Given the description of an element on the screen output the (x, y) to click on. 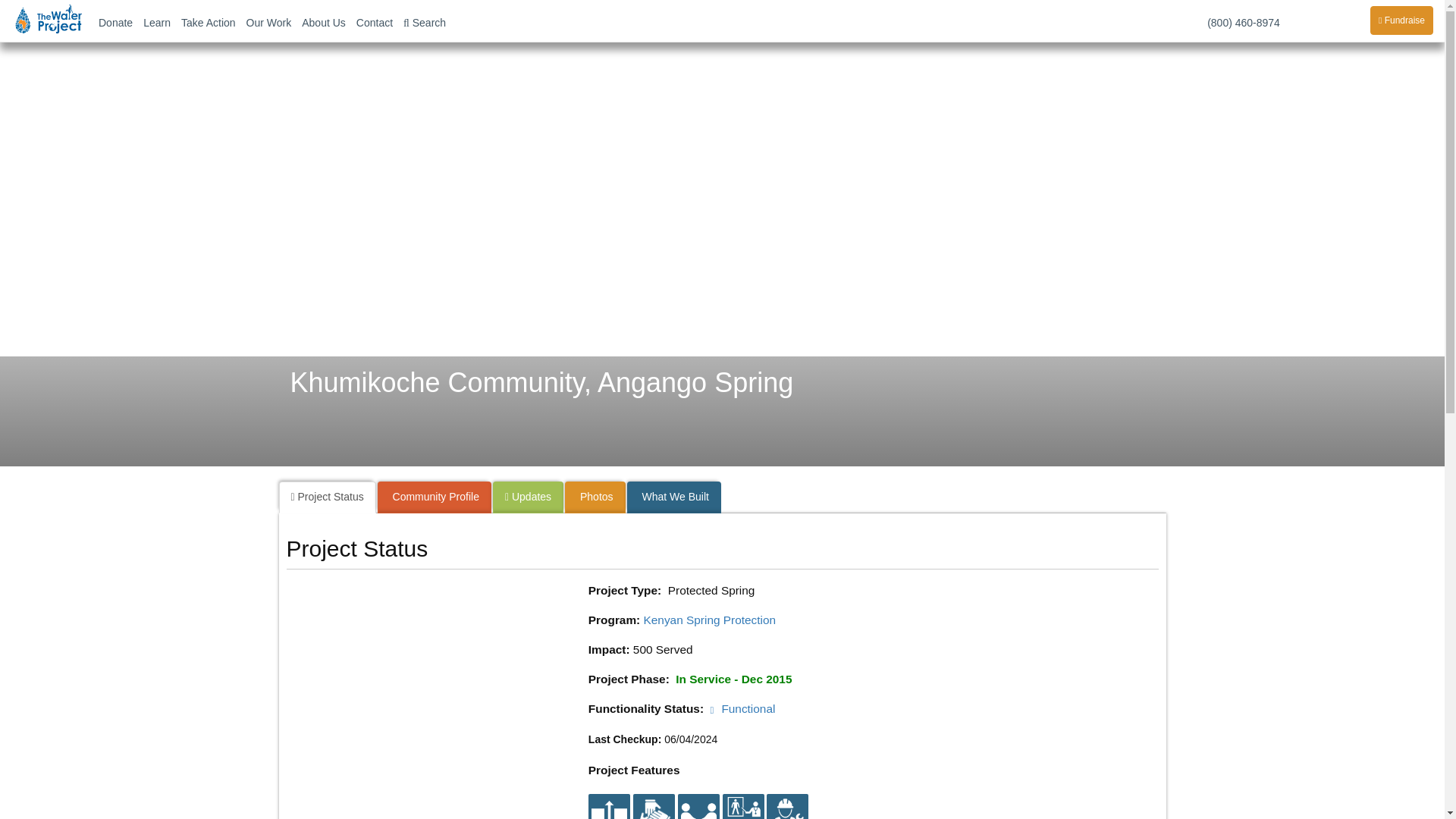
Local Leadership (654, 814)
Community Engagement (698, 814)
Our Work (269, 20)
Protected Spring (609, 814)
Protected Spring (609, 806)
Kenyan Spring Protection (709, 619)
Take Action (208, 20)
Learn (157, 20)
Hygiene and Sanitation Training (742, 814)
Donate (115, 20)
